Given the description of an element on the screen output the (x, y) to click on. 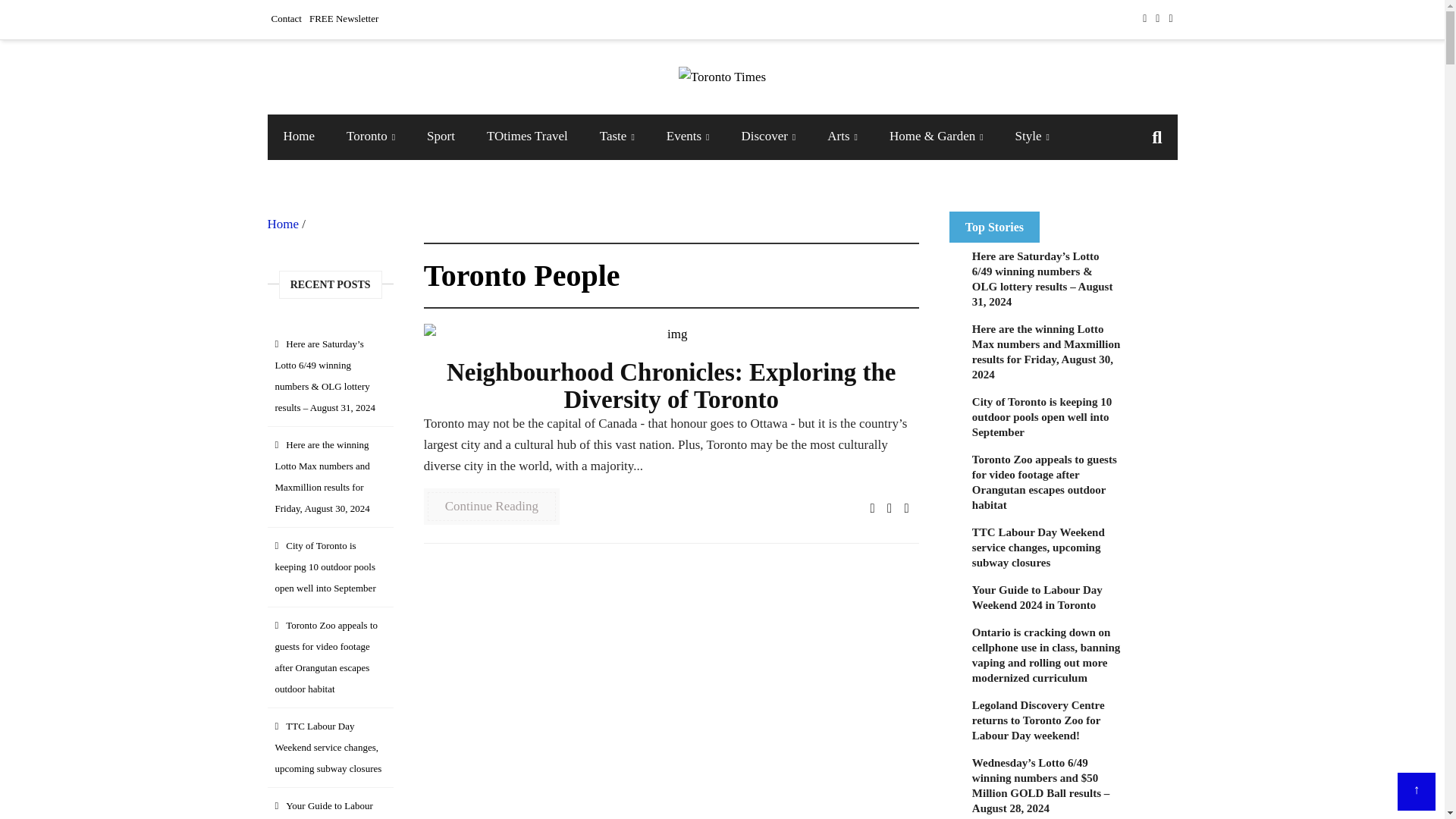
Your Guide to Labour Day Weekend 2024 in Toronto (1045, 597)
Your Guide to Labour Day Weekend 2024 in Toronto (1045, 597)
Neighbourhood Chronicles: Exploring the Diversity of Toronto (670, 333)
